Given the description of an element on the screen output the (x, y) to click on. 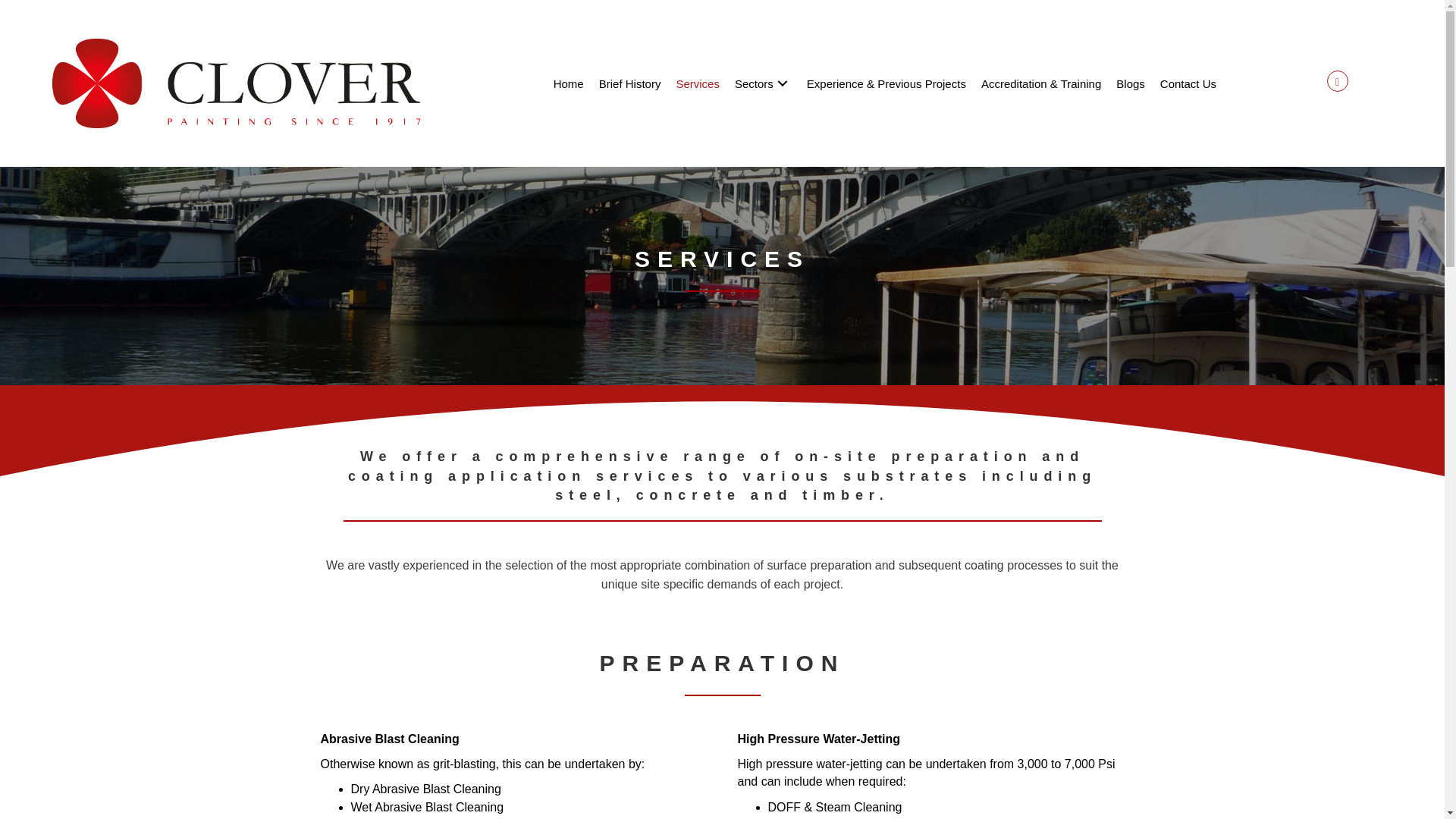
Sectors (759, 88)
Services (730, 88)
LinkedIn (1337, 80)
Brief History (712, 88)
Home (684, 88)
Contact Us (1133, 84)
Blogs (1072, 84)
FAC Painting Logo FINAL web (236, 83)
